Given the description of an element on the screen output the (x, y) to click on. 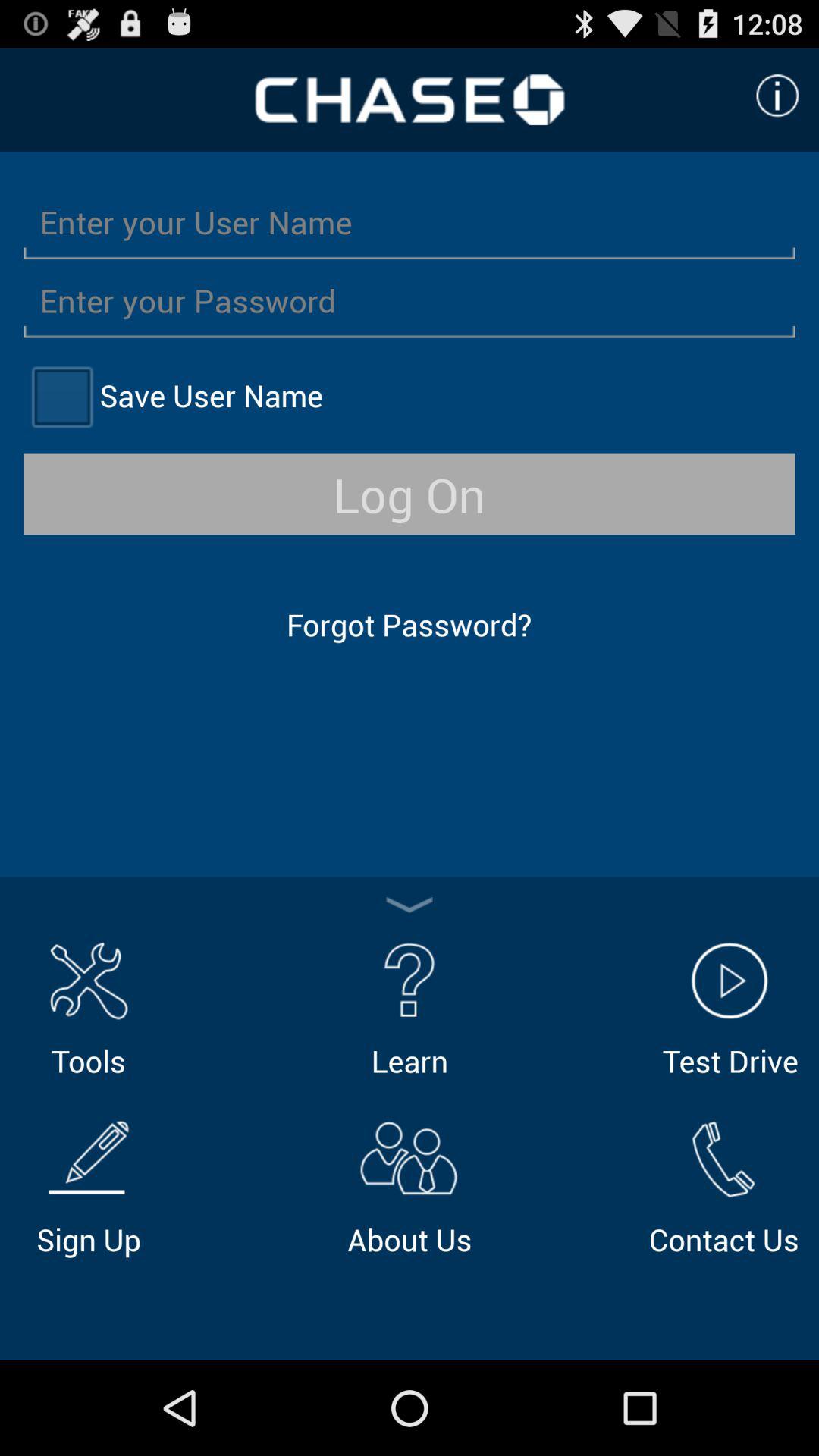
tap the icon above about us item (409, 1006)
